Given the description of an element on the screen output the (x, y) to click on. 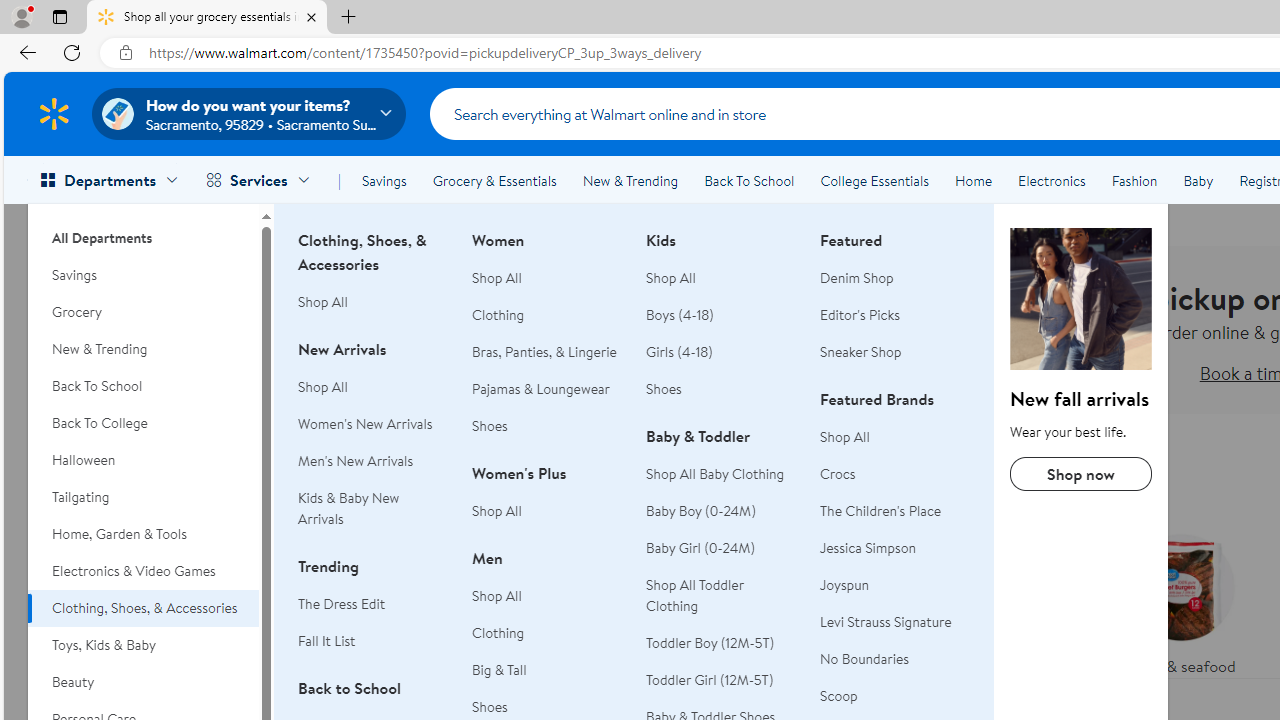
Savings (143, 275)
Toddler Boy (12M-5T) (721, 642)
Jessica Simpson (895, 547)
Sneaker Shop (895, 352)
Joyspun (845, 584)
Home, Garden & Tools (143, 534)
Toddler Girl (12M-5T) (721, 680)
Women's PlusShop All (547, 502)
Clothing (498, 632)
Pajamas & Loungewear (547, 389)
Shop All Baby Clothing (715, 473)
Bras, Panties, & Lingerie (547, 352)
Home, Garden & Tools (143, 534)
Fresh produce (1023, 599)
Editor's Picks (859, 314)
